Given the description of an element on the screen output the (x, y) to click on. 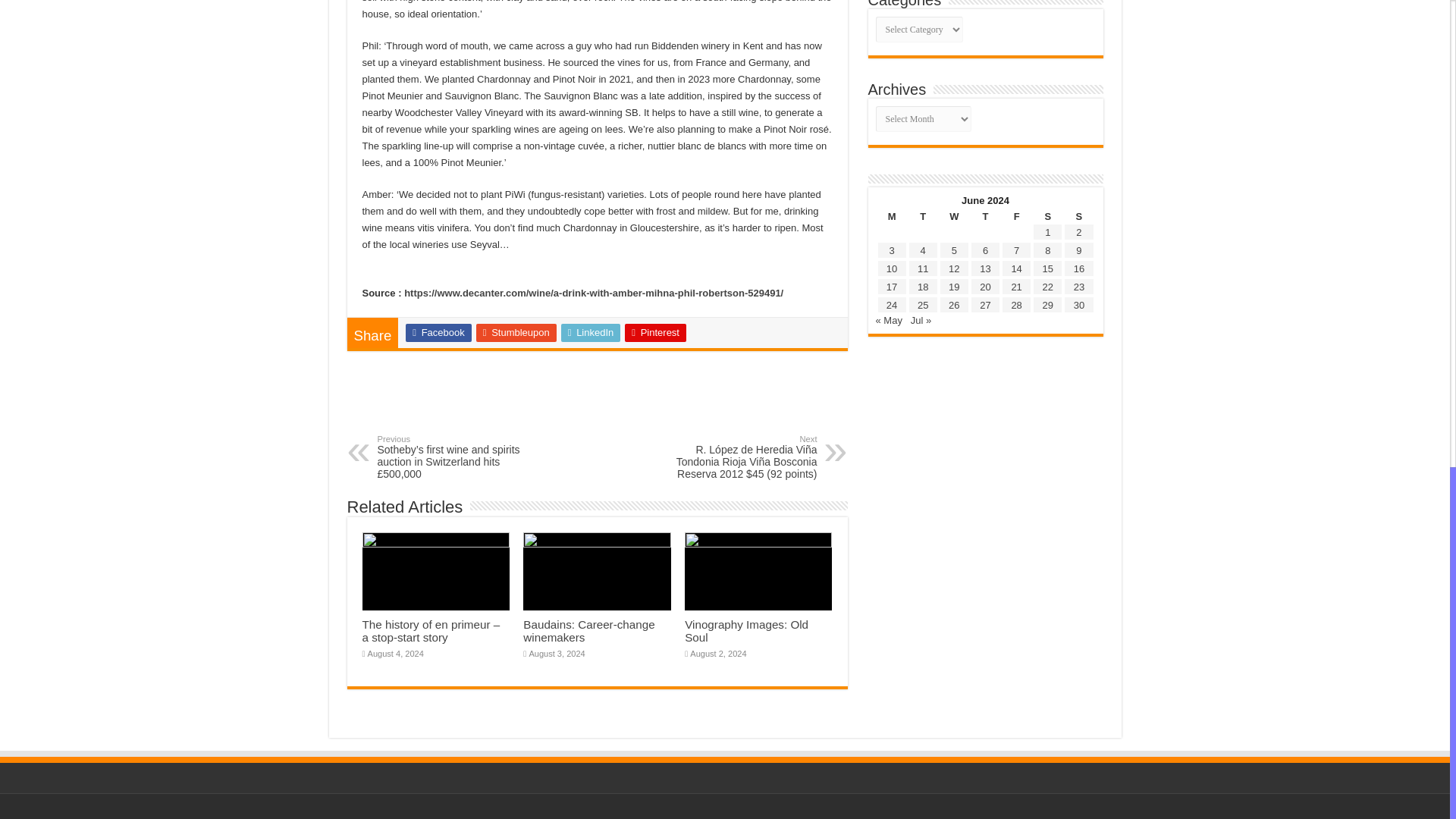
7 (1016, 250)
Saturday (1047, 215)
4 (923, 250)
Wednesday (954, 215)
12 (954, 268)
10 (891, 268)
Tuesday (922, 215)
1 (1047, 232)
Thursday (985, 215)
Stumbleupon (516, 332)
2 (1078, 232)
Sunday (1078, 215)
8 (1047, 250)
LinkedIn (590, 332)
Monday (890, 215)
